Given the description of an element on the screen output the (x, y) to click on. 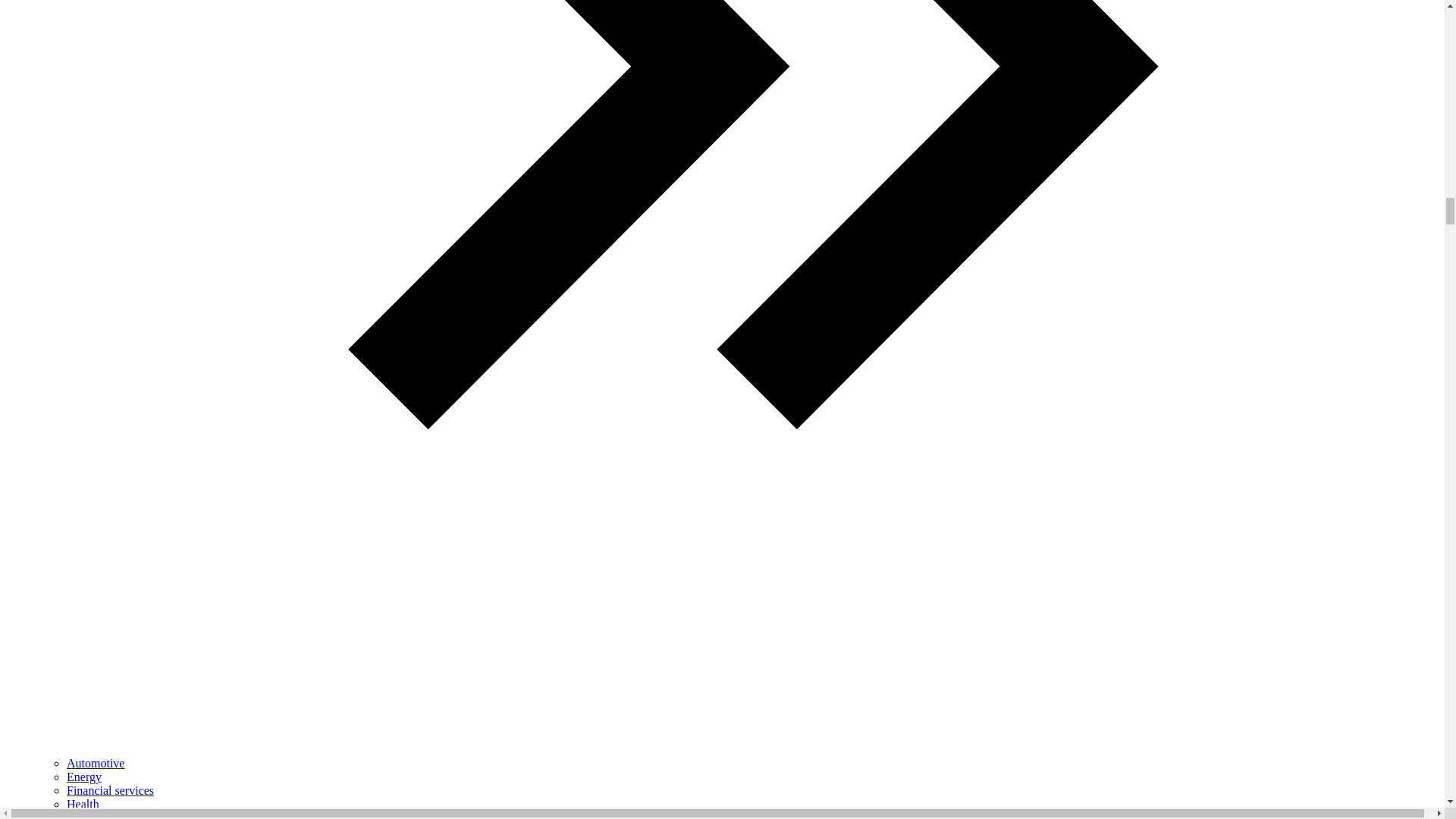
Financial services (110, 789)
Manufacturing (102, 815)
Automotive (94, 762)
Energy (83, 776)
Health (82, 803)
